Given the description of an element on the screen output the (x, y) to click on. 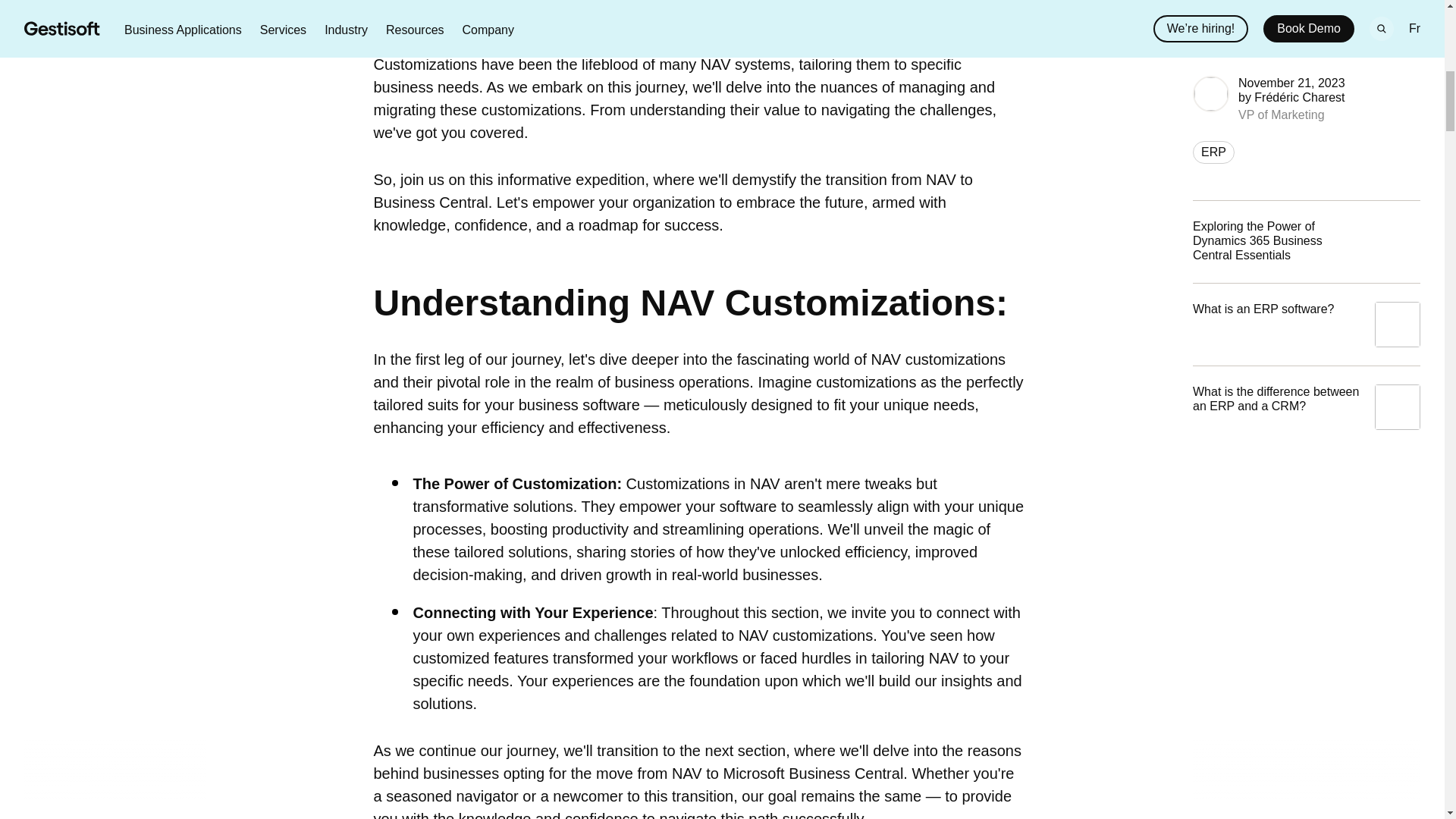
What is an ERP software? (1306, 34)
What is the difference between an ERP and a CRM? (1306, 117)
